Given the description of an element on the screen output the (x, y) to click on. 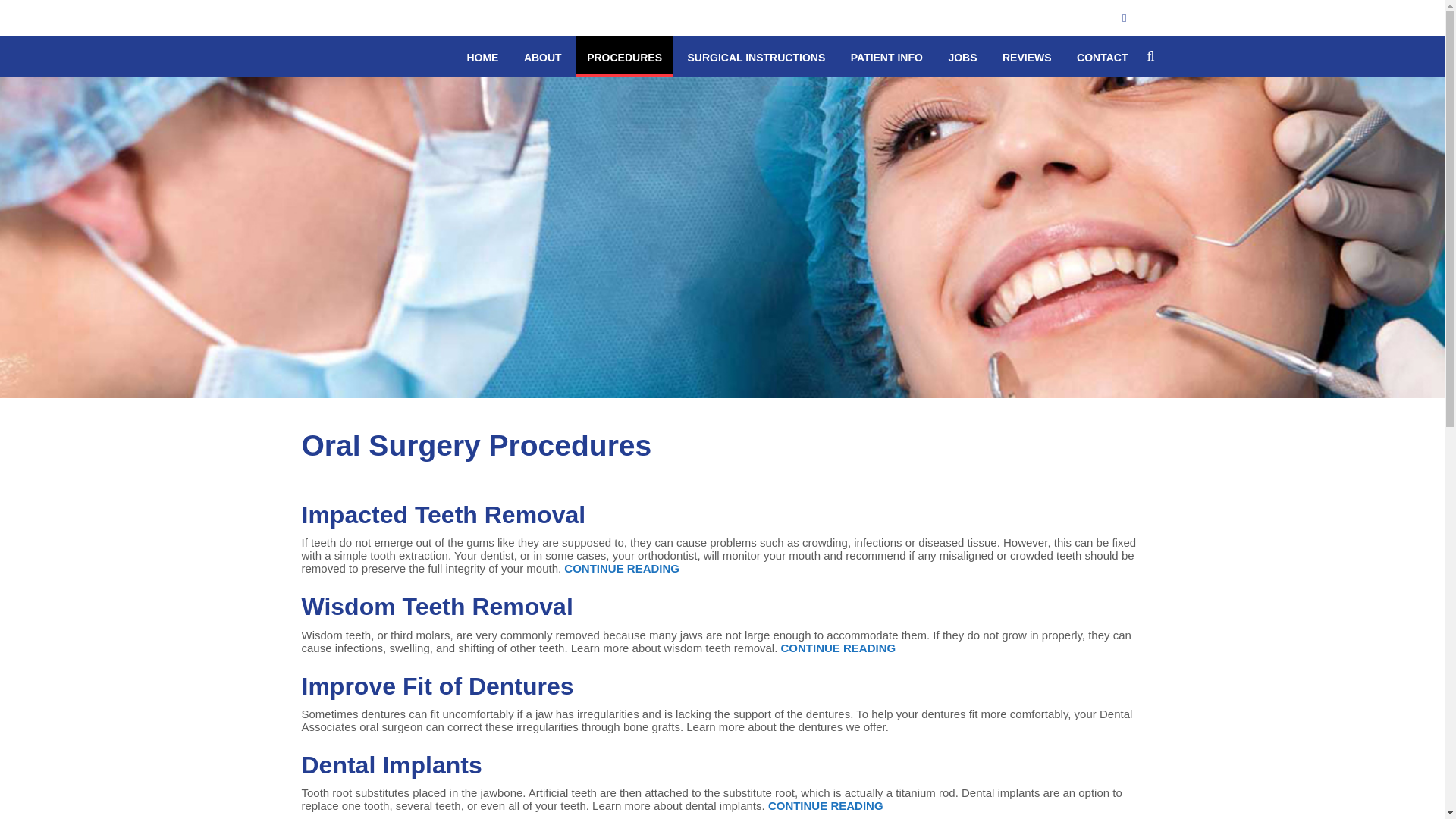
PATIENT INFO (887, 57)
CONTINUE READING (621, 567)
CONTINUE READING (825, 805)
CONTINUE READING (838, 647)
ABOUT (542, 57)
REVIEWS (1026, 57)
PROCEDURES (623, 57)
CONTACT (1101, 57)
SURGICAL INSTRUCTIONS (755, 57)
JOBS (962, 57)
HOME (481, 57)
